Given the description of an element on the screen output the (x, y) to click on. 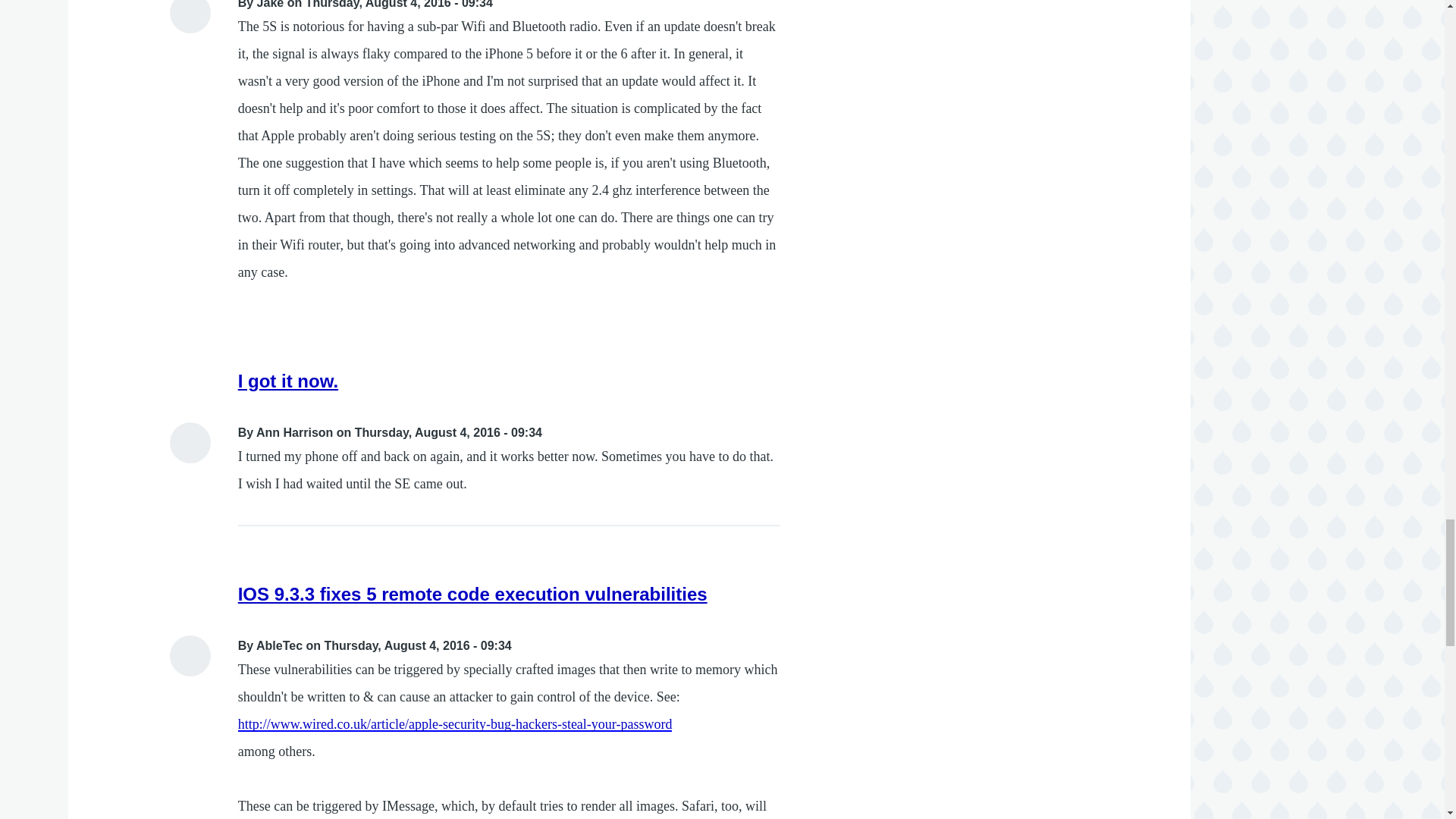
I got it now. (287, 381)
IOS 9.3.3 fixes 5 remote code execution vulnerabilities (472, 593)
